Given the description of an element on the screen output the (x, y) to click on. 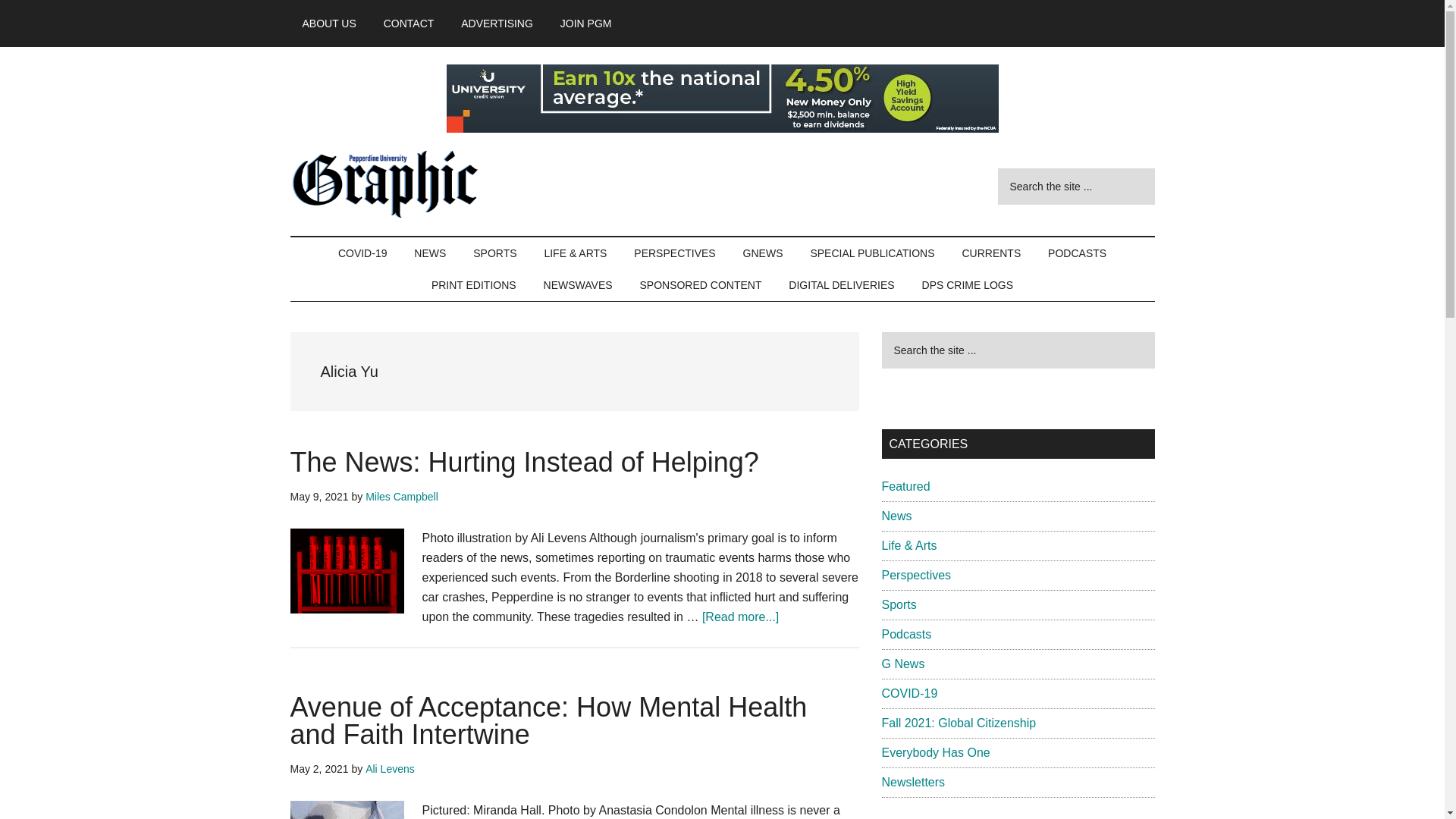
NEWS (429, 253)
JOIN PGM (586, 23)
COVID-19 (362, 253)
PERSPECTIVES (673, 253)
ABOUT US (328, 23)
CONTACT (408, 23)
